Given the description of an element on the screen output the (x, y) to click on. 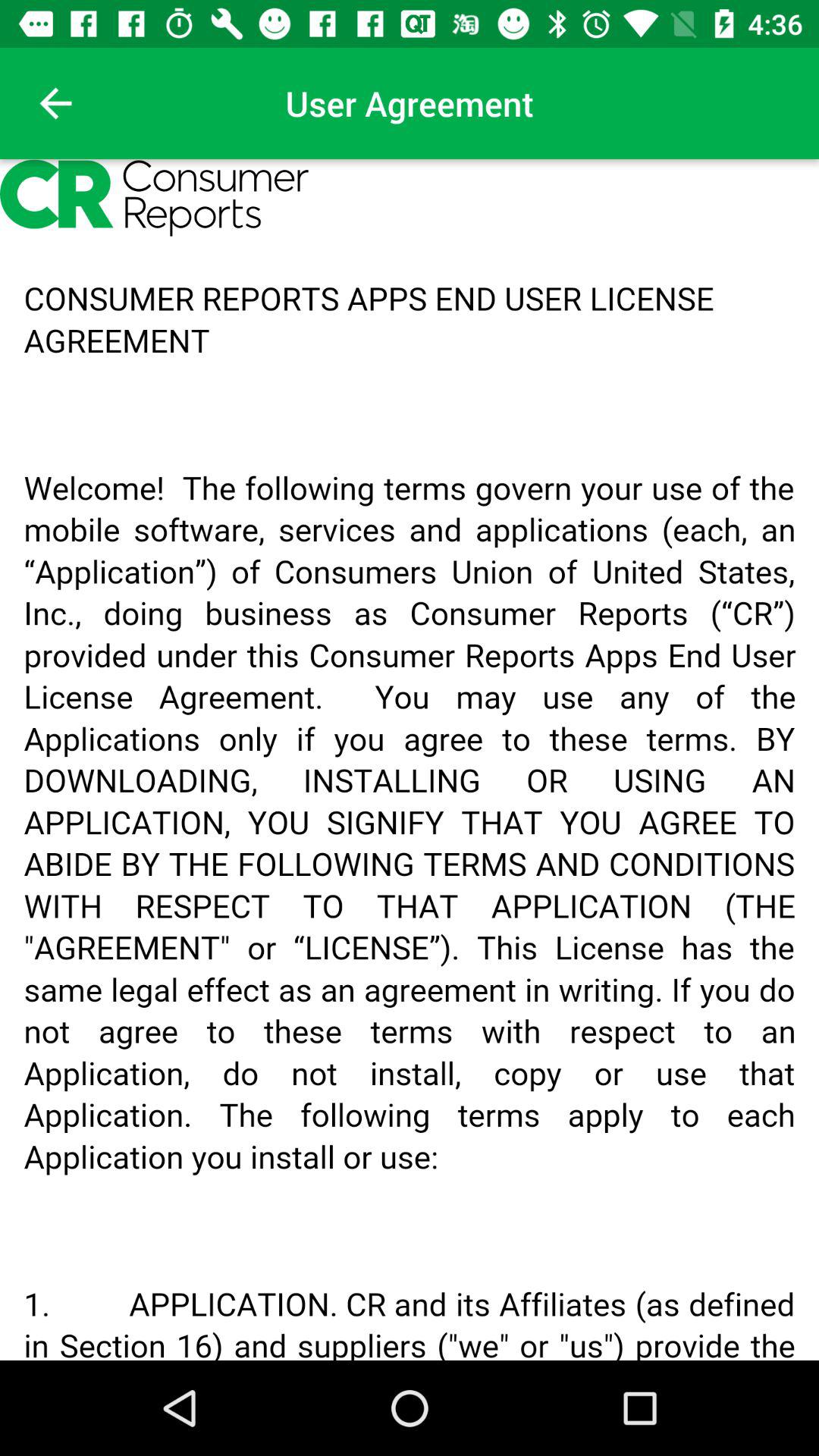
article area (409, 759)
